Given the description of an element on the screen output the (x, y) to click on. 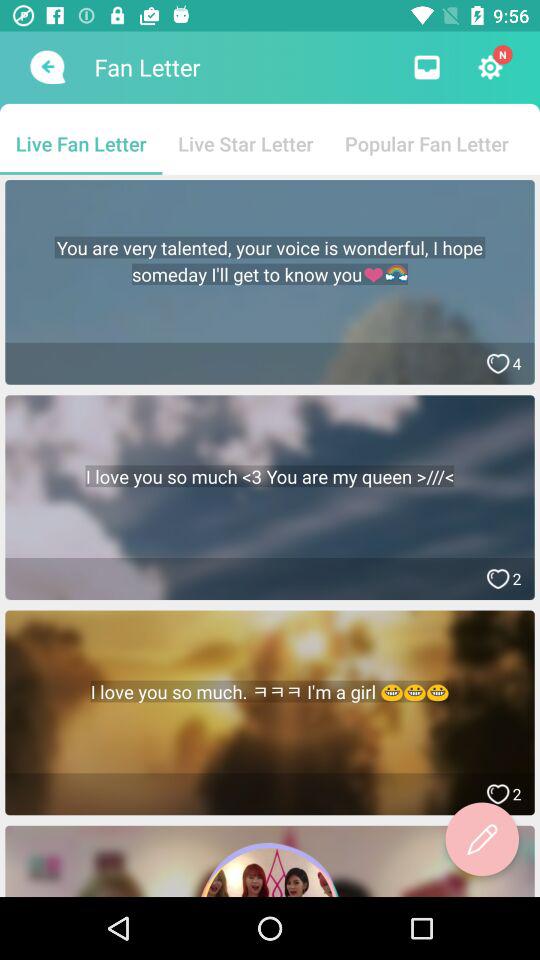
tap icon below the i love you app (482, 839)
